Given the description of an element on the screen output the (x, y) to click on. 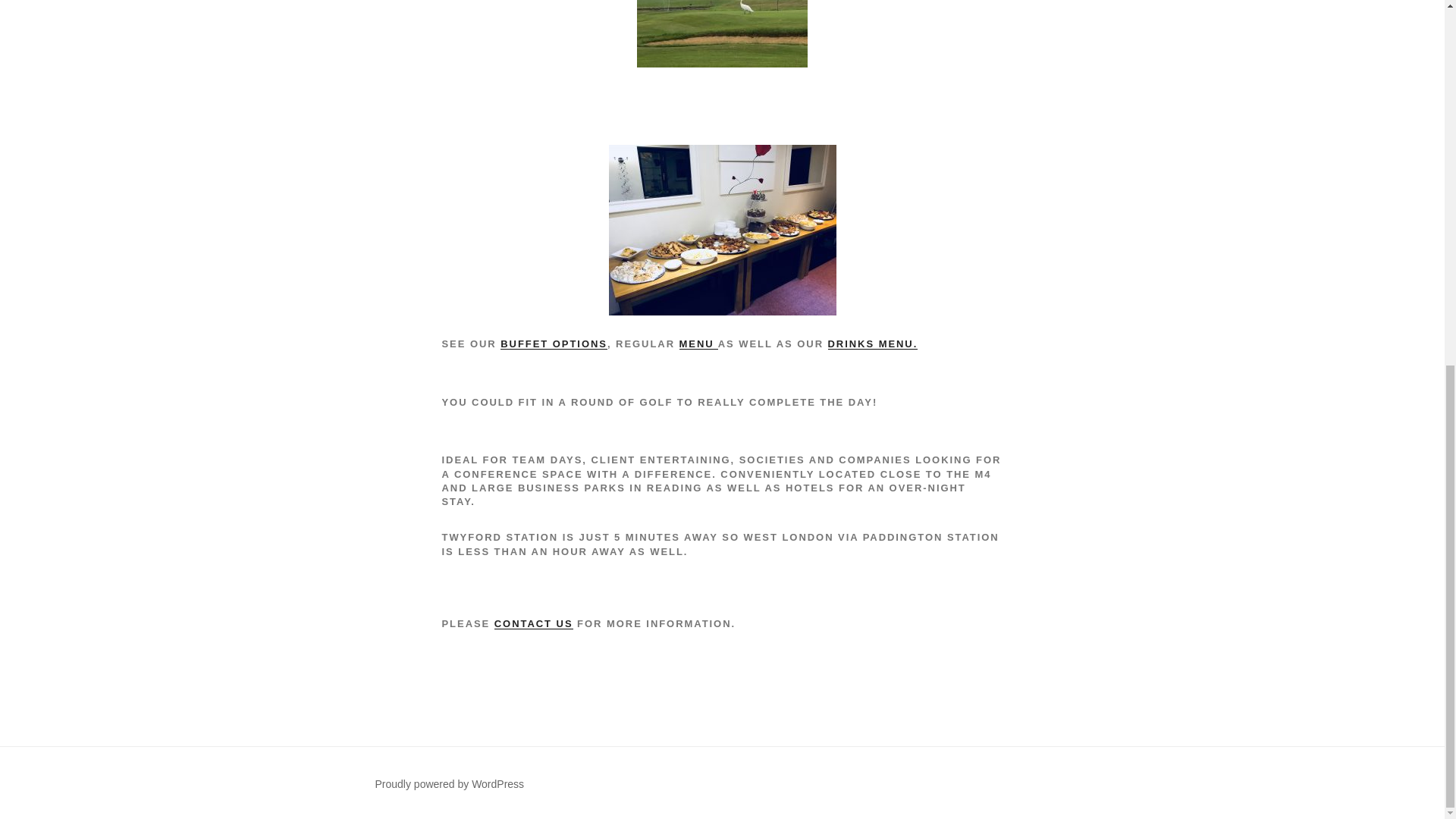
MENU  (698, 343)
BUFFET OPTIONS (553, 343)
DRINKS MENU. (873, 343)
CONTACT US (534, 623)
